Given the description of an element on the screen output the (x, y) to click on. 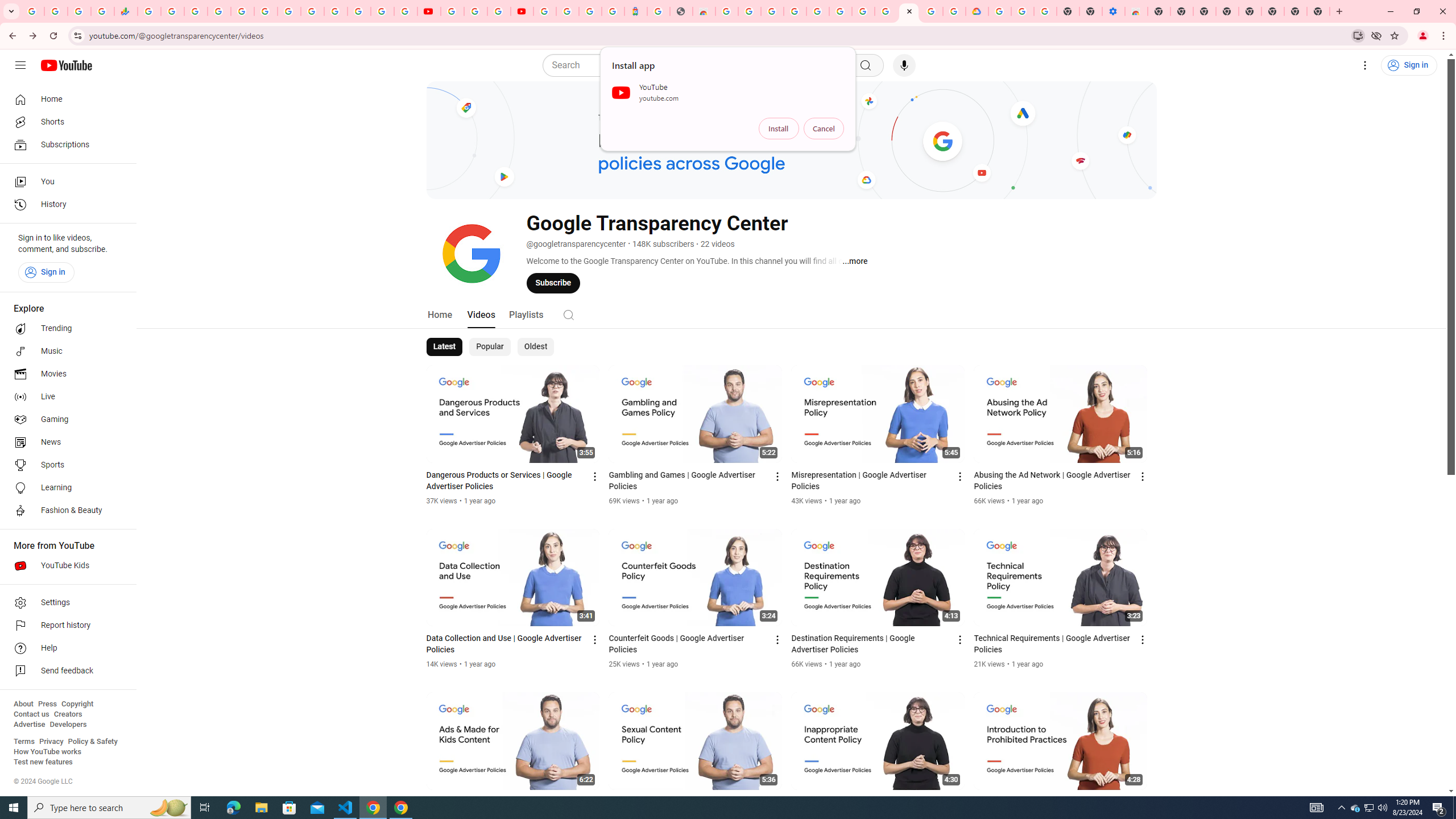
Sign in - Google Accounts (218, 11)
Learning (64, 487)
Trending (64, 328)
Send feedback (64, 671)
Fashion & Beauty (64, 510)
Sports (64, 464)
Policy & Safety (91, 741)
Home (64, 99)
Oldest (534, 346)
How YouTube works (47, 751)
Sign in - Google Accounts (545, 11)
